Given the description of an element on the screen output the (x, y) to click on. 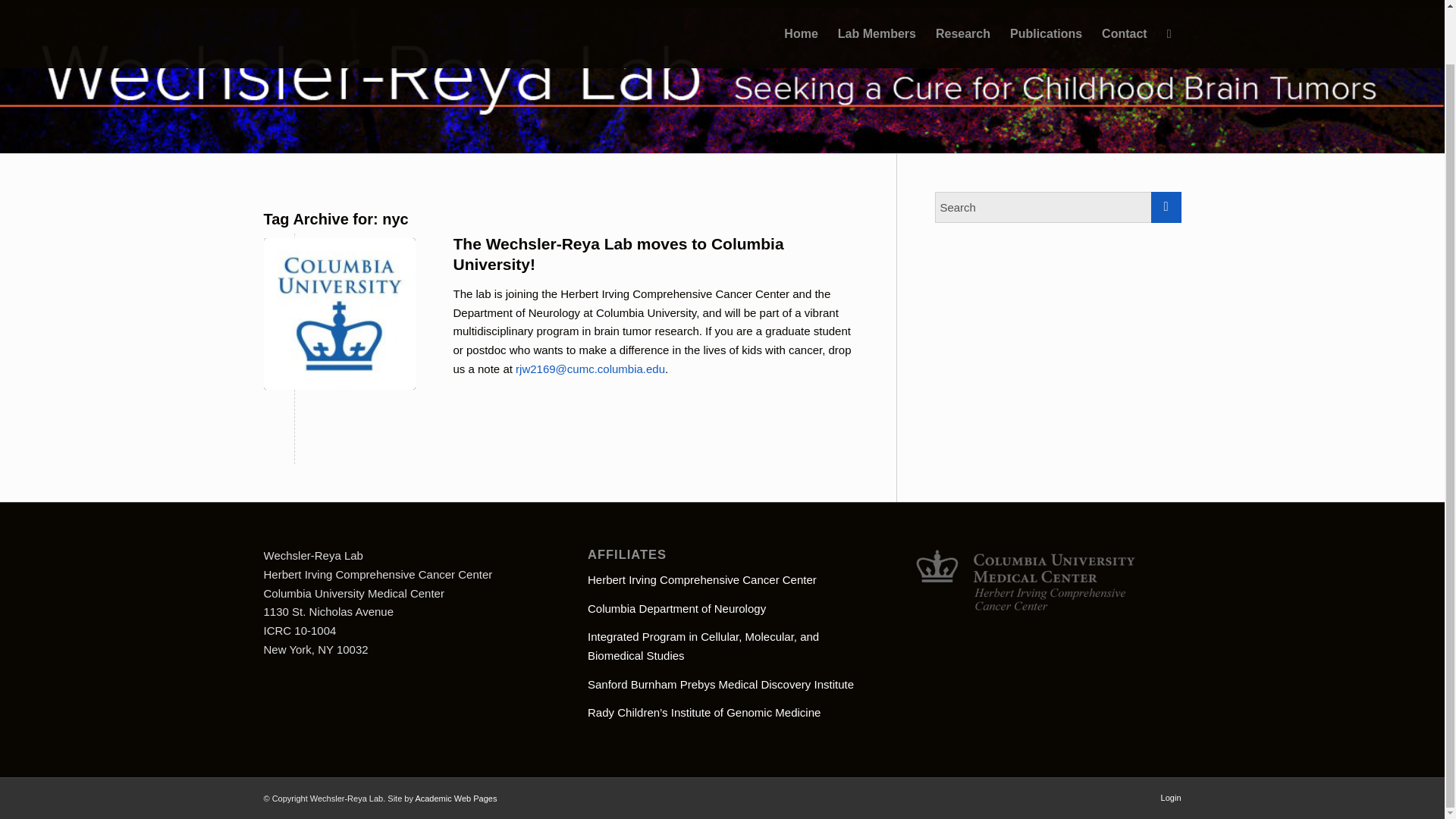
Login (1170, 796)
The Wechsler-Reya Lab moves to Columbia University! (618, 252)
Columbia University (338, 313)
Herbert Irving Comprehensive Cancer Center (702, 579)
Home (800, 4)
Research (963, 4)
Publications (1046, 4)
Lab Members (877, 4)
Columbia Department of Neurology (676, 608)
Contact (1124, 4)
Academic Web Pages (455, 798)
Sanford Burnham Prebys Medical Discovery Institute (720, 683)
